Given the description of an element on the screen output the (x, y) to click on. 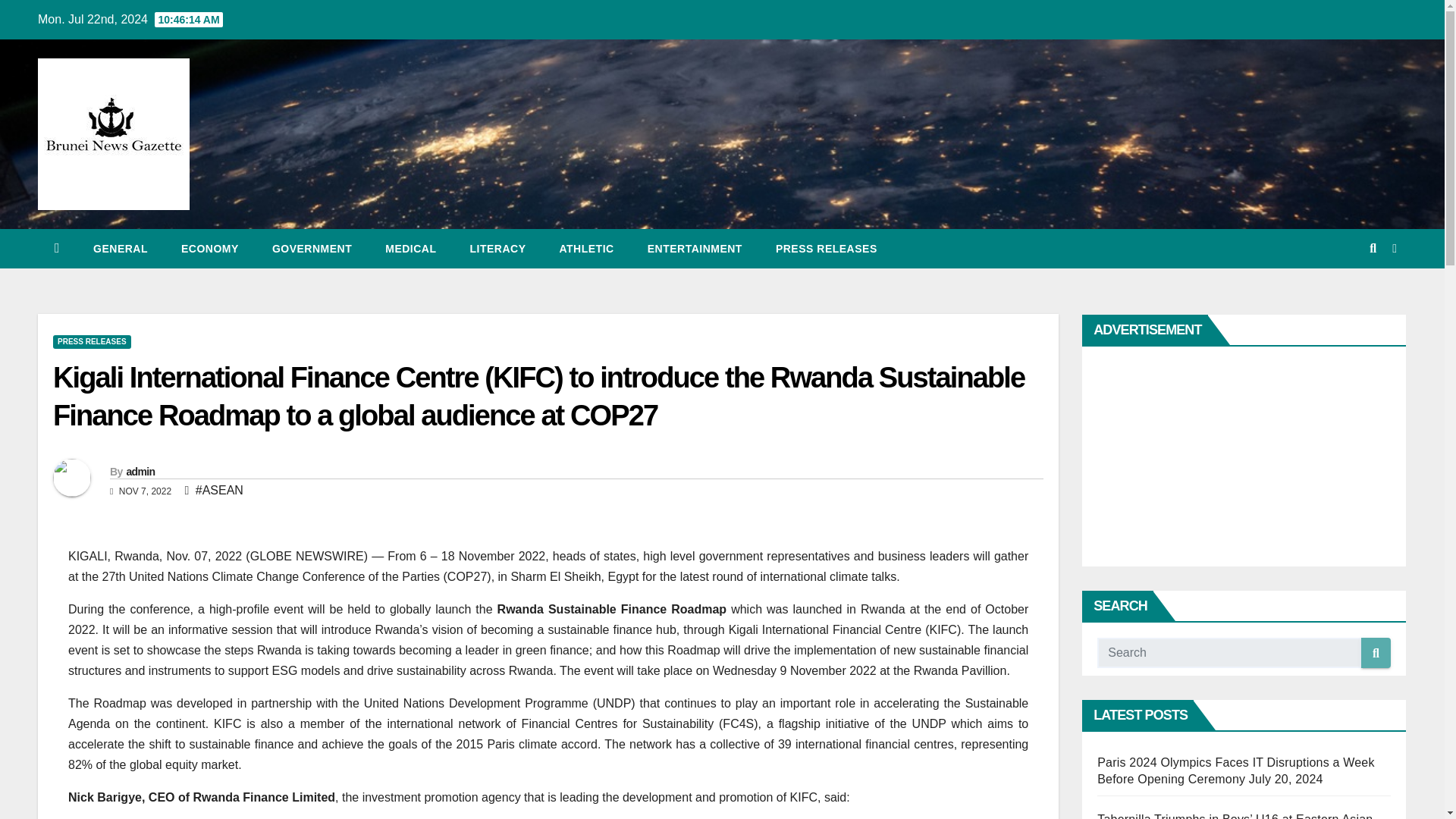
PRESS RELEASES (825, 248)
ATHLETIC (586, 248)
LITERACY (497, 248)
Athletic (586, 248)
Advertisement (1229, 456)
PRESS RELEASES (91, 341)
Literacy (497, 248)
Press Releases (825, 248)
GENERAL (120, 248)
admin (139, 471)
Medical (410, 248)
General (120, 248)
Economy (210, 248)
ECONOMY (210, 248)
ENTERTAINMENT (694, 248)
